Given the description of an element on the screen output the (x, y) to click on. 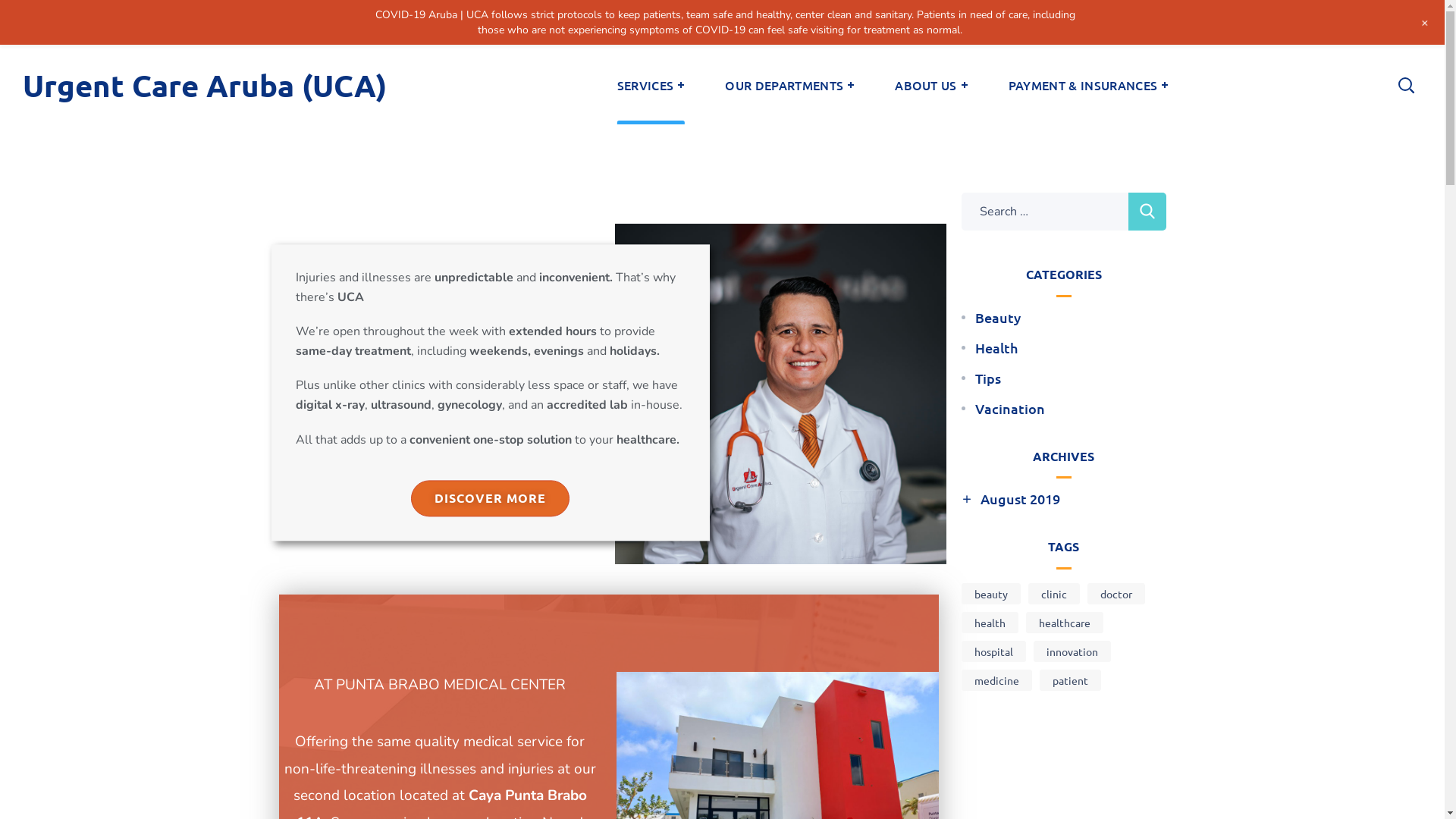
beauty Element type: text (990, 593)
Health Element type: text (996, 347)
doctor Element type: text (1116, 593)
Search Element type: text (1366, 162)
clinic Element type: text (1053, 593)
Beauty Element type: text (997, 317)
DISCOVER MORE Element type: text (490, 498)
medicine Element type: text (996, 679)
Search Element type: text (1366, 37)
healthcare Element type: text (1063, 622)
hospital Element type: text (993, 651)
SERVICES Element type: text (650, 84)
Urgent Care Aruba (UCA) Element type: text (204, 84)
August 2019 Element type: text (1019, 498)
ABOUT US Element type: text (931, 84)
health Element type: text (989, 622)
PAYMENT & INSURANCES Element type: text (1088, 84)
innovation Element type: text (1071, 651)
Vacination Element type: text (1009, 408)
Search Element type: text (1147, 211)
Tips Element type: text (988, 378)
patient Element type: text (1069, 679)
OUR DEPARTMENTS Element type: text (789, 84)
+ Element type: text (1425, 22)
